Given the description of an element on the screen output the (x, y) to click on. 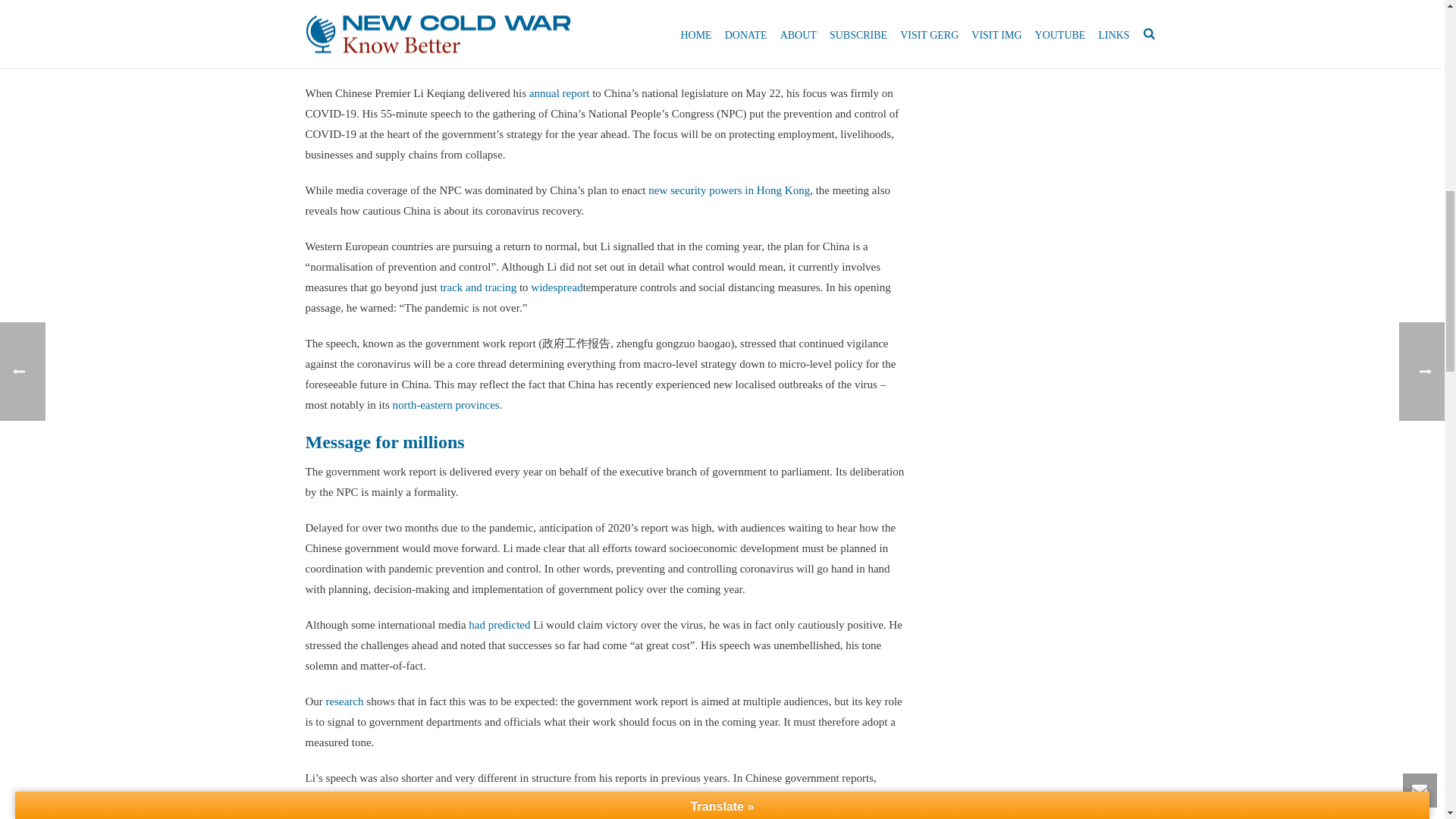
widespread (556, 287)
The Conversation (407, 37)
annual report (559, 92)
track and tracing (477, 287)
new security powers in Hong Kong (728, 190)
